Given the description of an element on the screen output the (x, y) to click on. 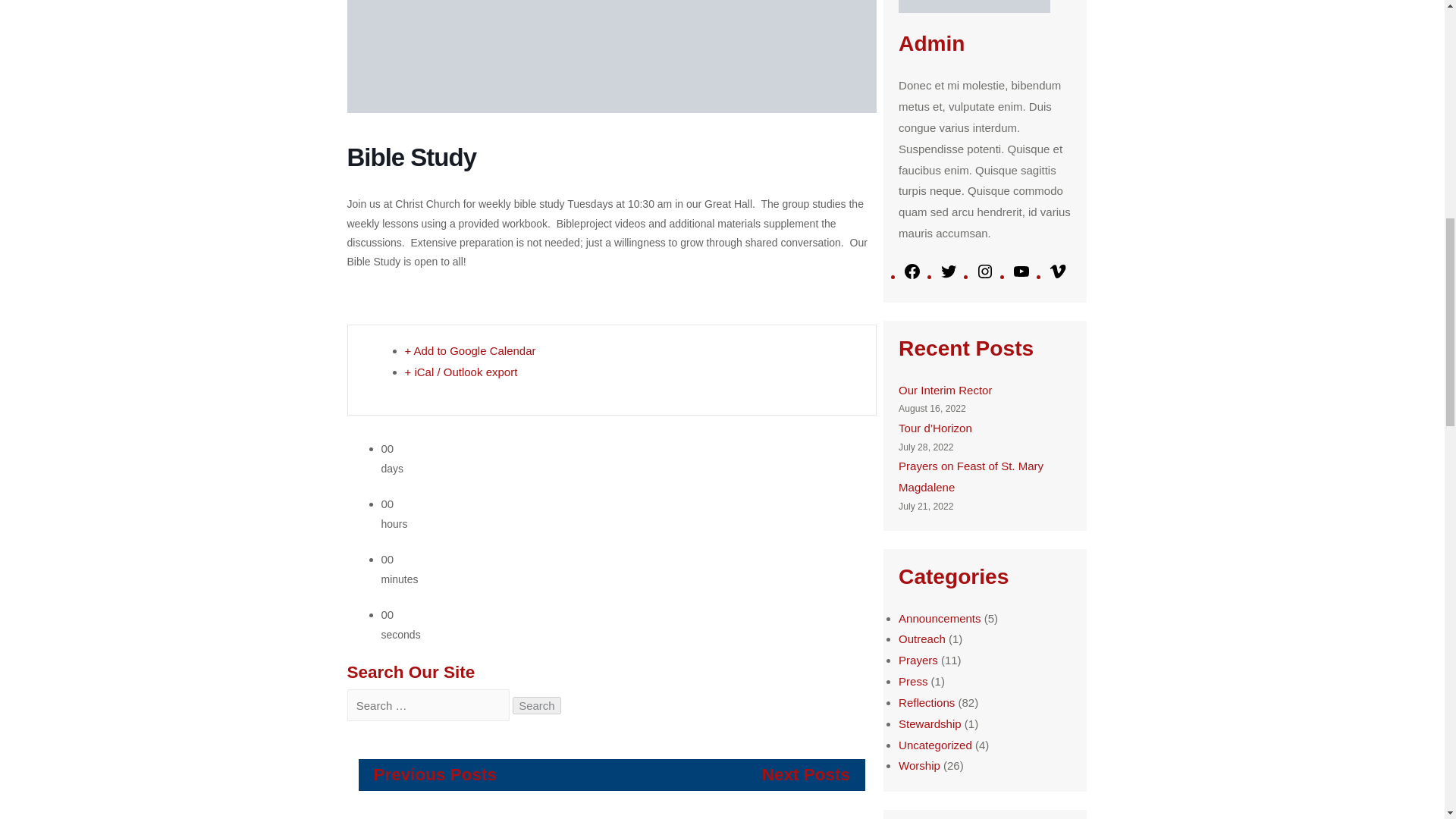
Our Interim Rector (944, 390)
Worship (919, 765)
Previous Posts (434, 773)
Next Posts (805, 773)
Search (536, 704)
Outreach (921, 638)
Press (912, 680)
Reflections (926, 702)
Prayers (917, 659)
Stewardship (929, 723)
Search (536, 704)
Announcements (938, 617)
Prayers on Feast of St. Mary Magdalene (970, 476)
Search (536, 704)
Uncategorized (935, 744)
